Given the description of an element on the screen output the (x, y) to click on. 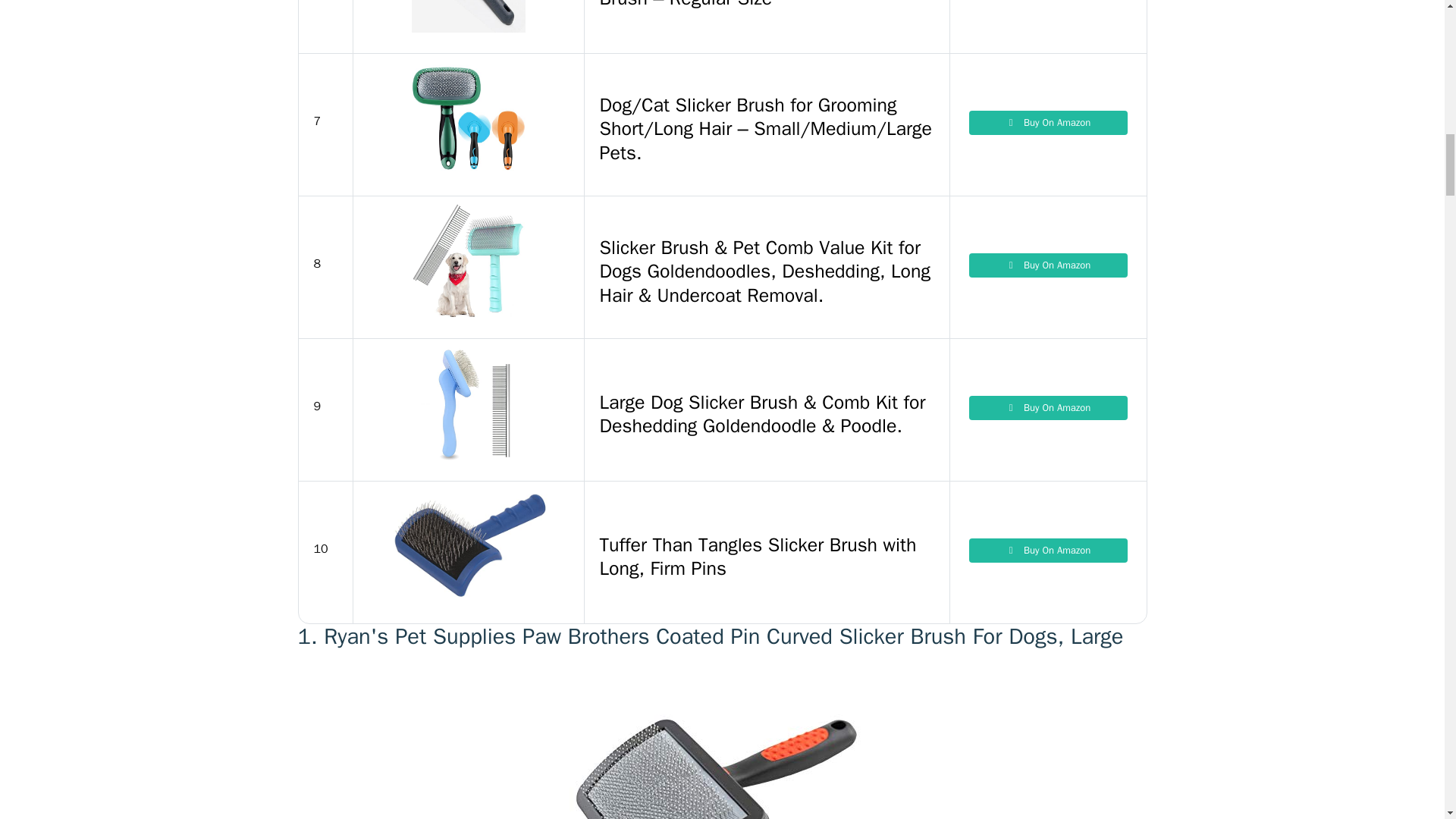
Buy On Amazon (1047, 122)
Check details from Amazon (1047, 122)
Check details from Amazon (1047, 550)
Buy On Amazon (1047, 265)
Check details from Amazon (1047, 407)
Check details from Amazon (1047, 265)
